Given the description of an element on the screen output the (x, y) to click on. 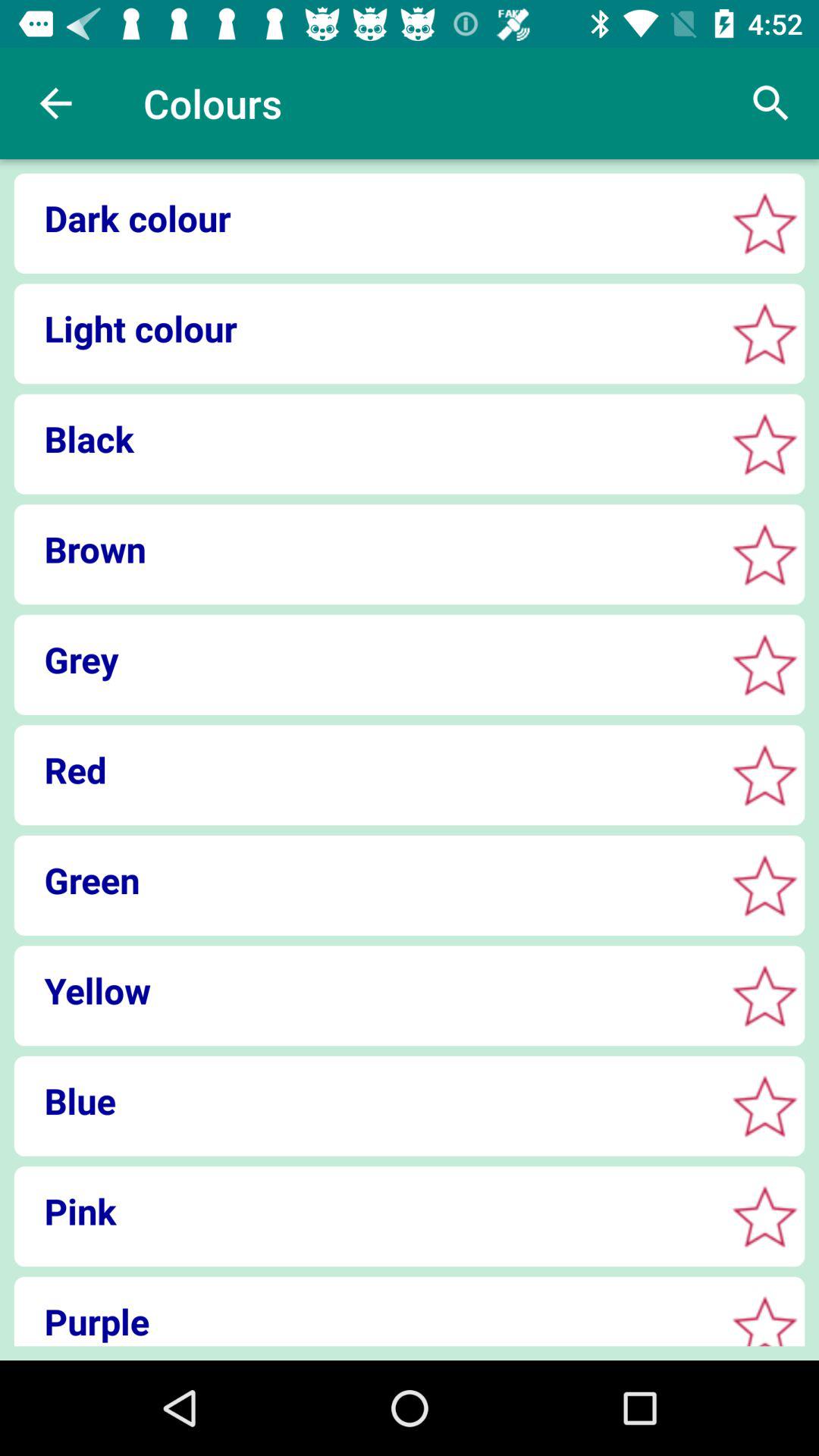
toggle star (764, 223)
